Given the description of an element on the screen output the (x, y) to click on. 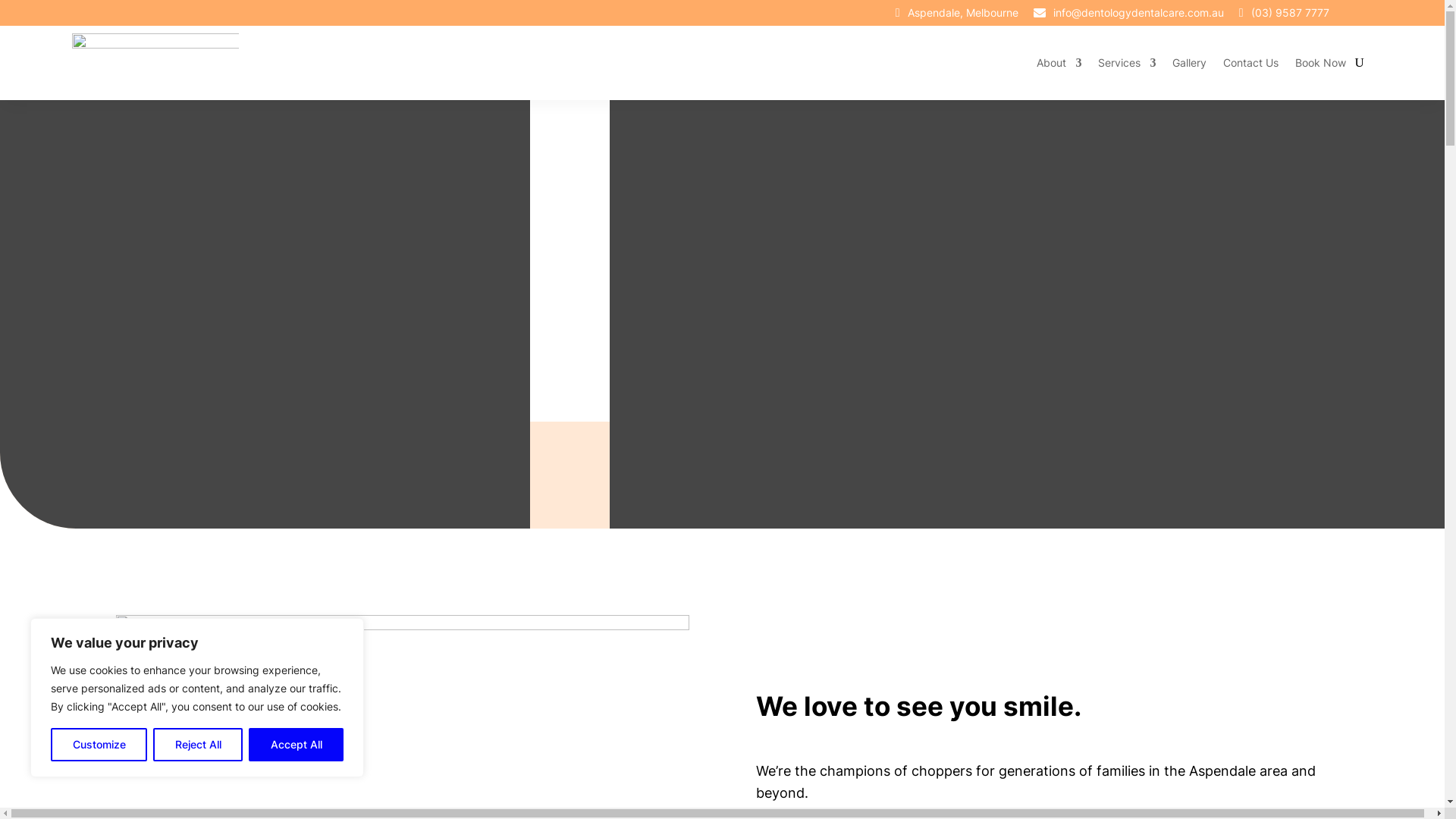
Gallery Element type: text (1189, 62)
Contact Us Element type: text (1250, 62)
Customize Element type: text (98, 744)
Book Now Element type: text (1320, 62)
Accept All Element type: text (295, 744)
About Element type: text (1058, 62)
Services Element type: text (1126, 62)
Reject All Element type: text (197, 744)
